Given the description of an element on the screen output the (x, y) to click on. 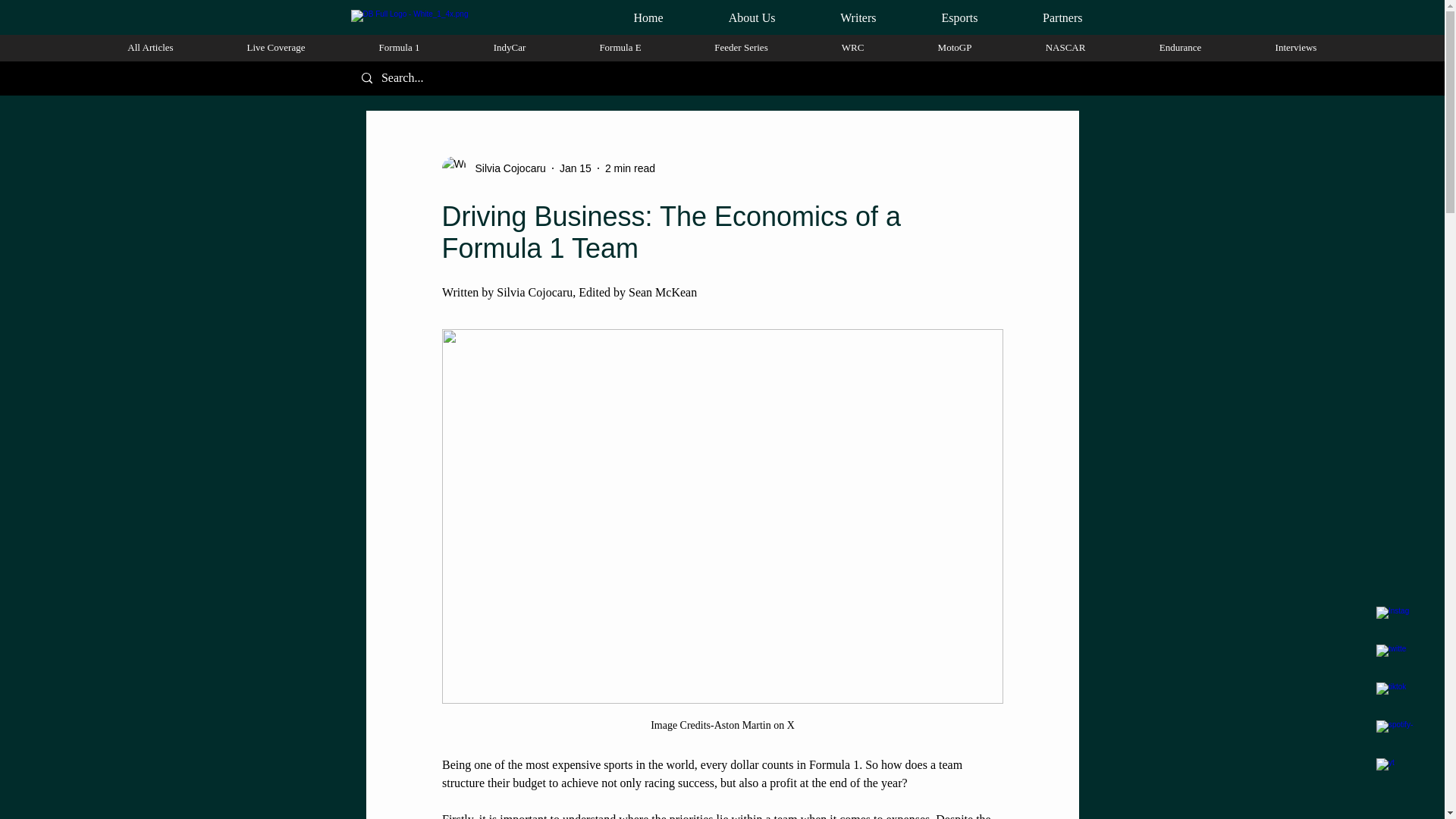
Formula 1 (399, 47)
All Articles (149, 47)
Interviews (1296, 47)
WRC (853, 47)
2 min read (630, 168)
Live Coverage (275, 47)
Home (626, 17)
Feeder Series (741, 47)
Formula E (620, 47)
Esports (937, 17)
